Given the description of an element on the screen output the (x, y) to click on. 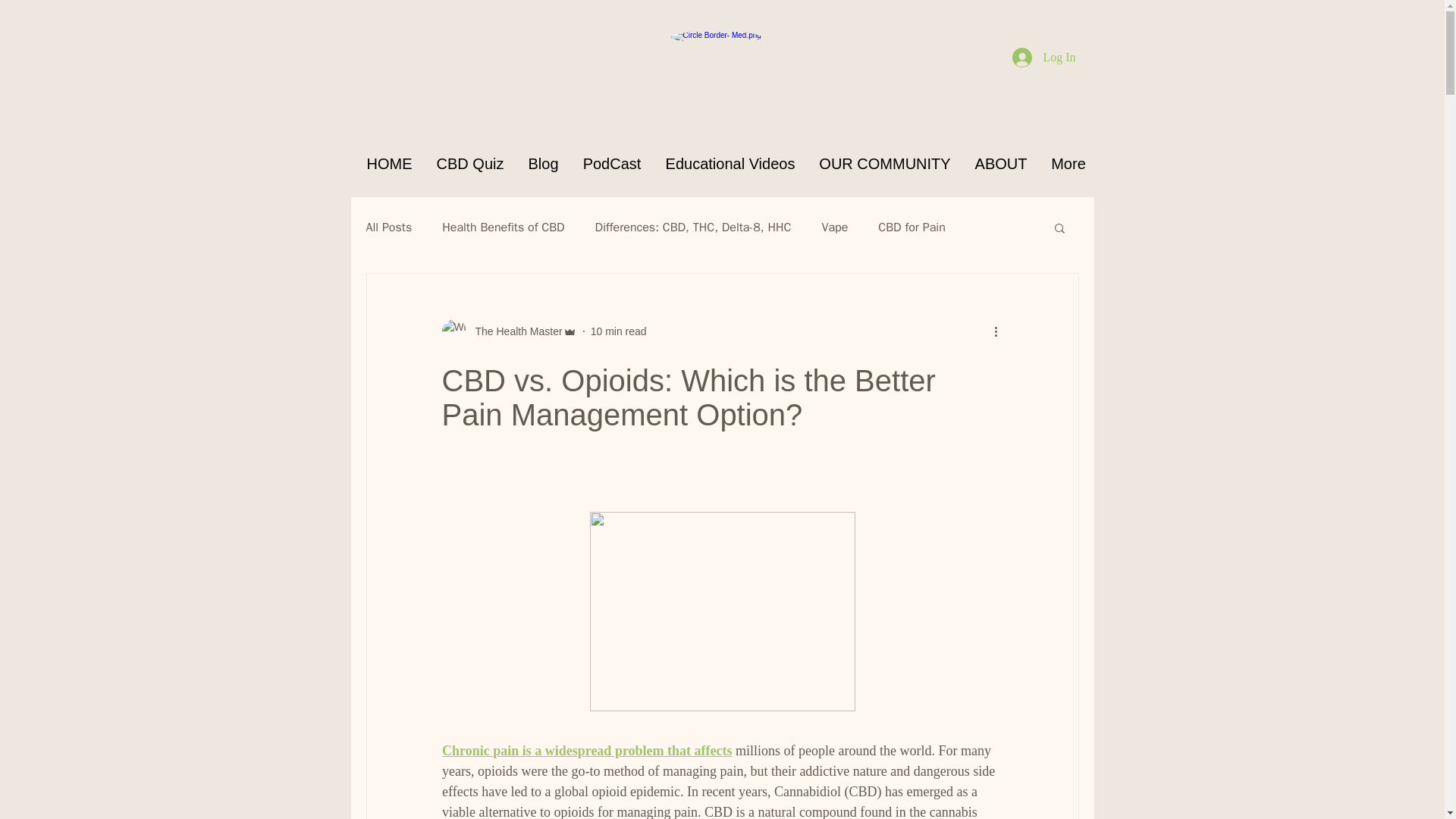
Vape (834, 227)
PodCast (611, 164)
CBD for Pain (910, 227)
Health Benefits of CBD (503, 227)
All Posts (388, 227)
OUR COMMUNITY (884, 164)
HOME (390, 164)
The Health Master (513, 330)
Differences: CBD, THC, Delta-8, HHC (693, 227)
Chronic pain is a widespread problem that affects (586, 750)
